Given the description of an element on the screen output the (x, y) to click on. 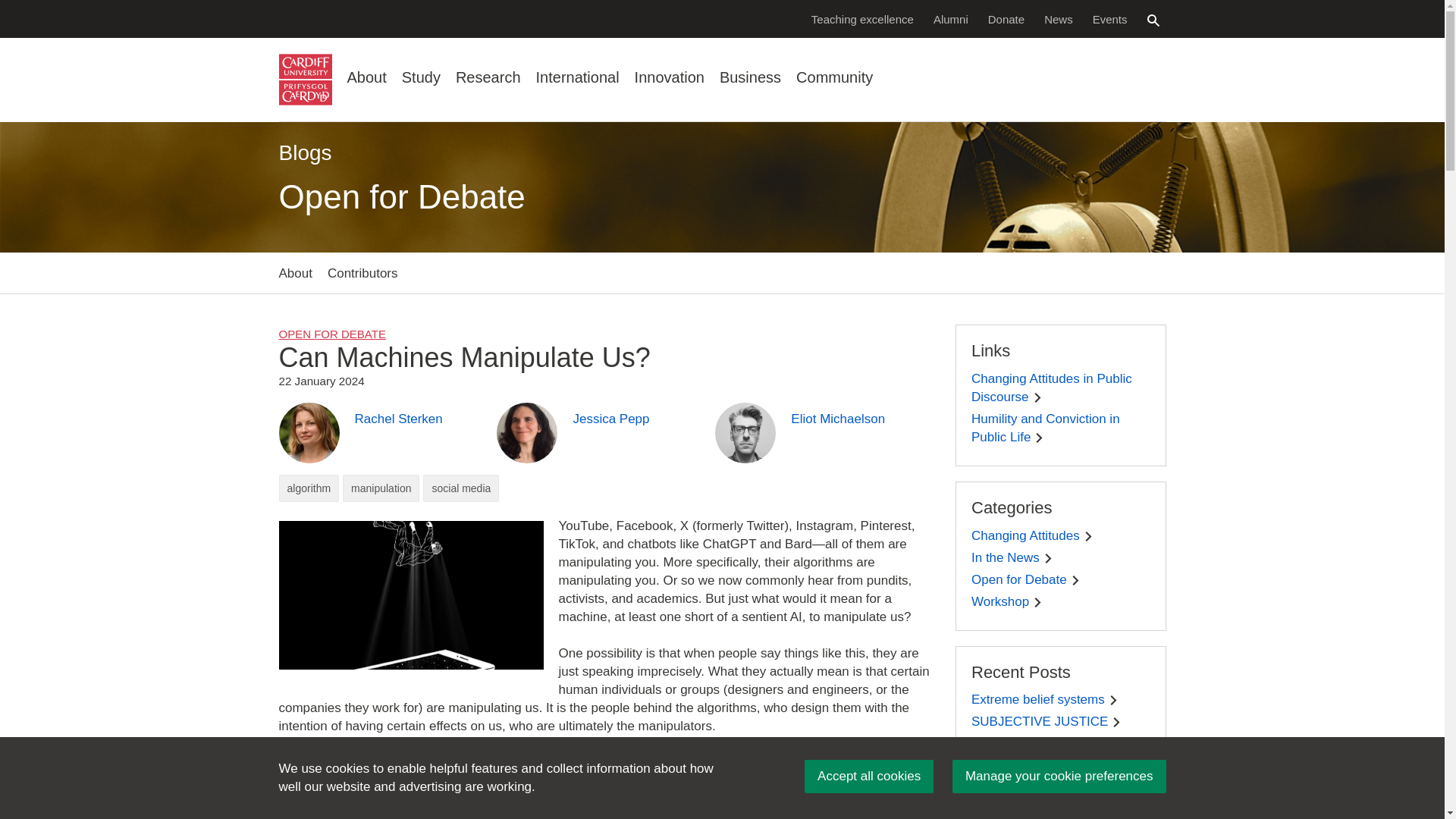
Alumni (951, 19)
Search (1152, 20)
Events (1109, 19)
Donate (1005, 19)
Chevron right (1116, 722)
Accept all cookies (869, 776)
Chevron right (1047, 558)
Manage your cookie preferences (1059, 776)
View all posts in Open for Debate (332, 333)
Chevron right (1037, 397)
News (1058, 19)
Chevron right (1038, 438)
Teaching excellence (862, 19)
Cardiff University logo (305, 79)
Chevron right (1037, 602)
